Given the description of an element on the screen output the (x, y) to click on. 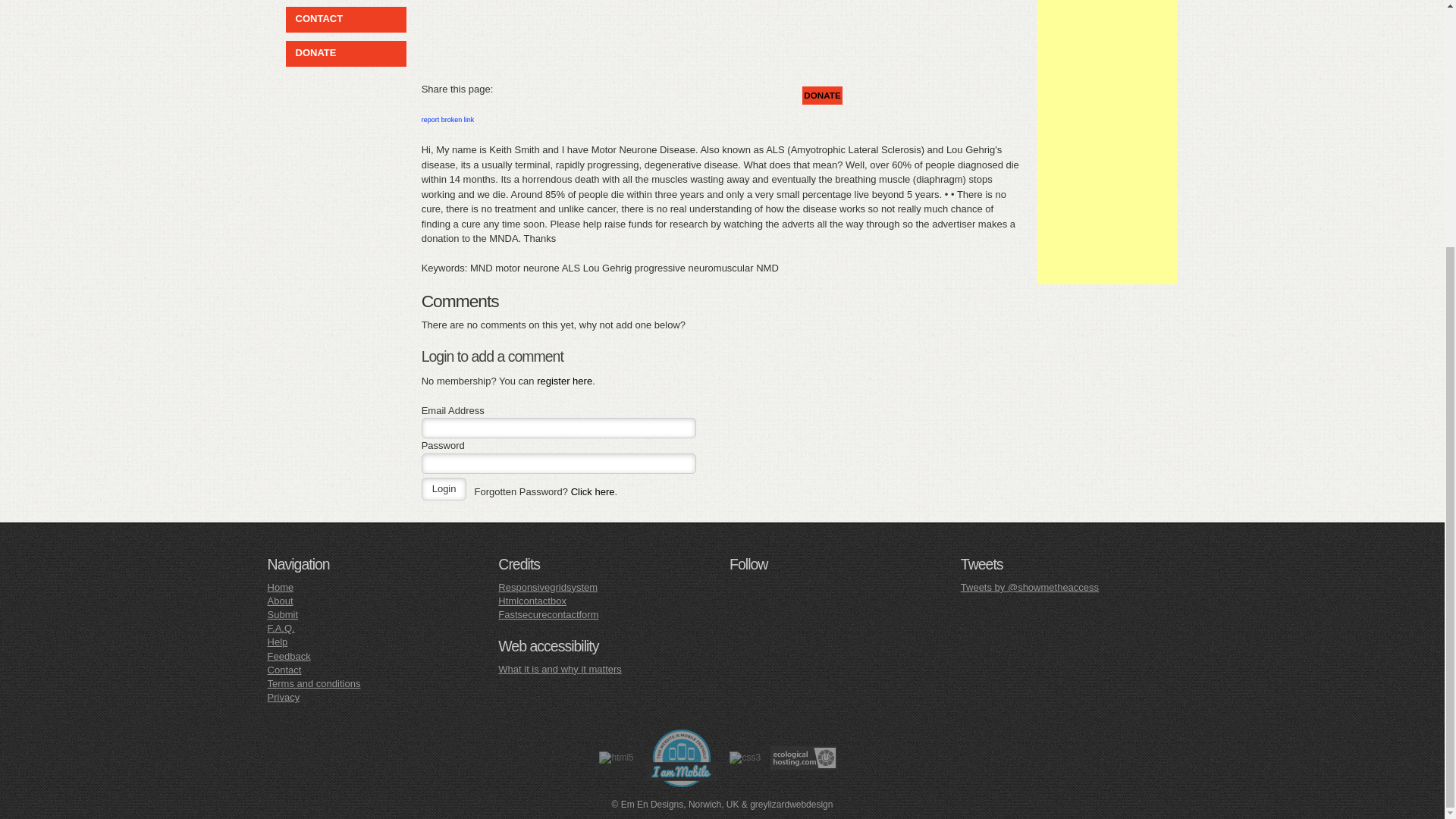
Login (444, 488)
Click here (592, 491)
DONATE (822, 95)
Privacy (283, 696)
F.A.Q. (281, 627)
Submit (282, 614)
Contact (284, 669)
About (280, 600)
CONTACT (315, 19)
Home (280, 586)
What it is and why it matters (559, 668)
DONATE (312, 53)
Help (277, 641)
Htmlcontactbox (531, 600)
Login (444, 488)
